Given the description of an element on the screen output the (x, y) to click on. 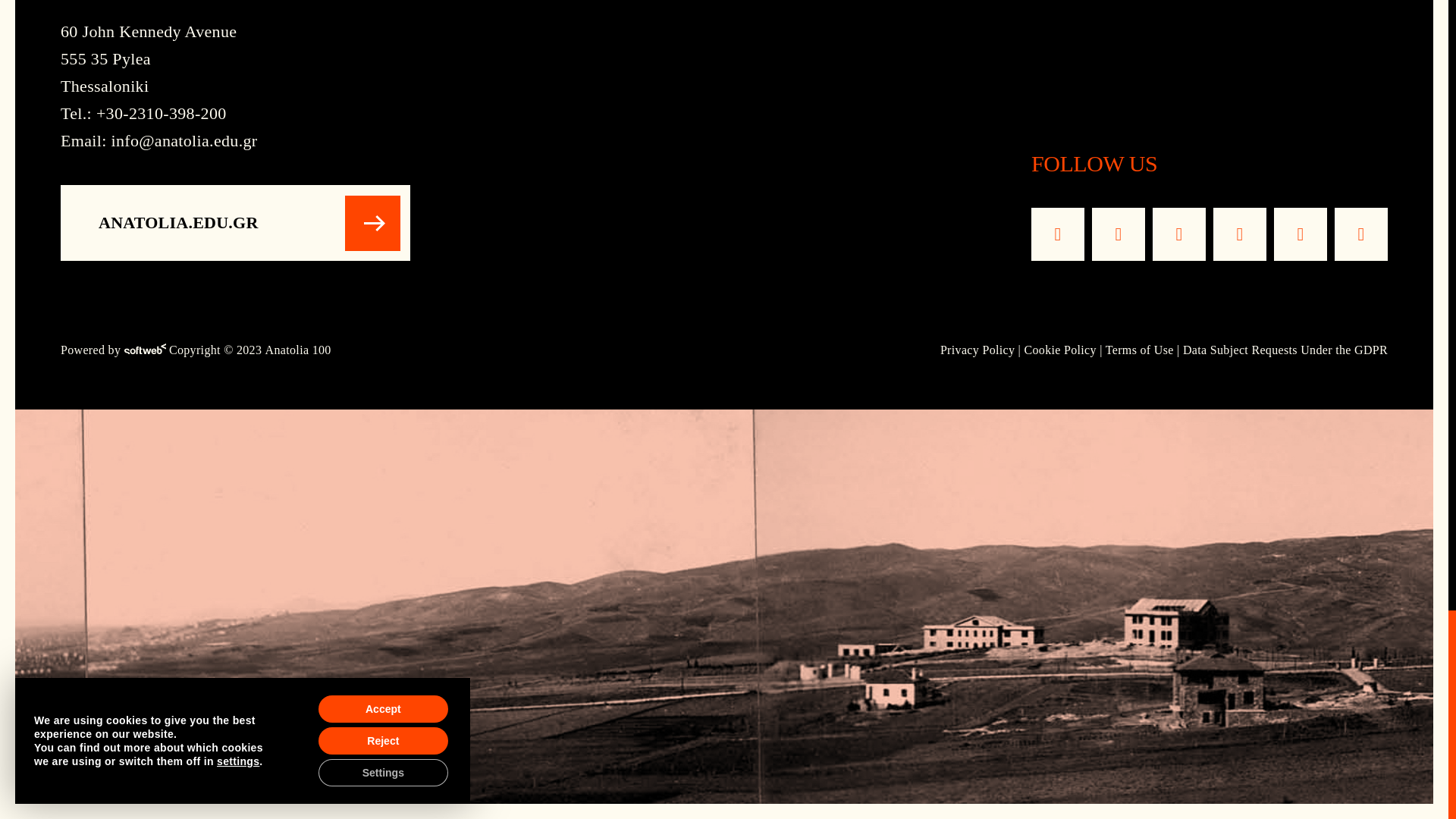
Terms of Use (1139, 349)
Cookie Policy (1059, 349)
ANATOLIA.EDU.GR (235, 223)
Privacy Policy (977, 349)
